Given the description of an element on the screen output the (x, y) to click on. 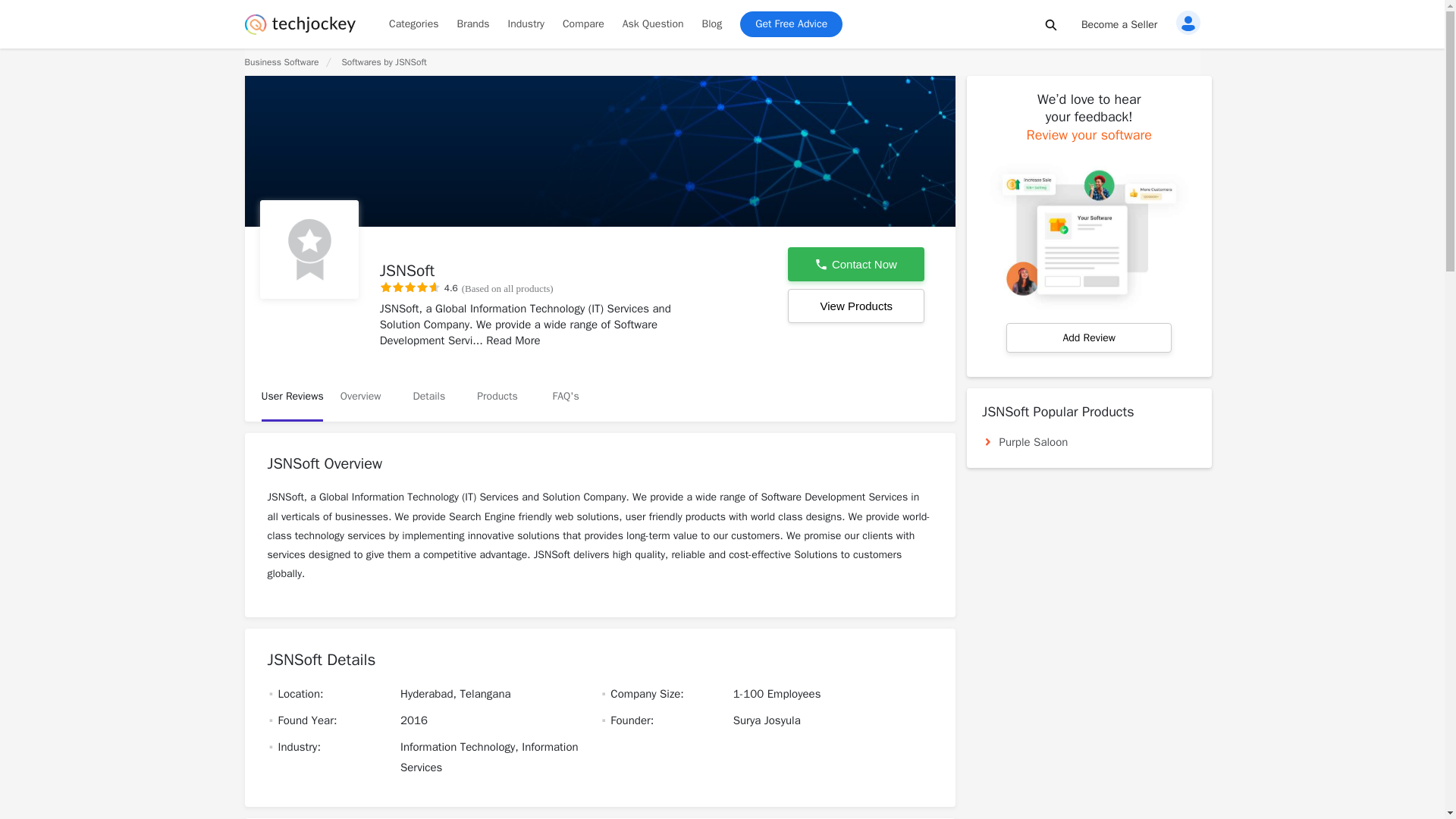
Contact Now (855, 264)
Blog (712, 24)
Become a Seller (1119, 24)
Business Software (281, 62)
Techjockey (299, 24)
Compare (582, 24)
View Products (855, 305)
Add Review (1089, 337)
the best software for your business (299, 30)
Ask Question (652, 24)
